Given the description of an element on the screen output the (x, y) to click on. 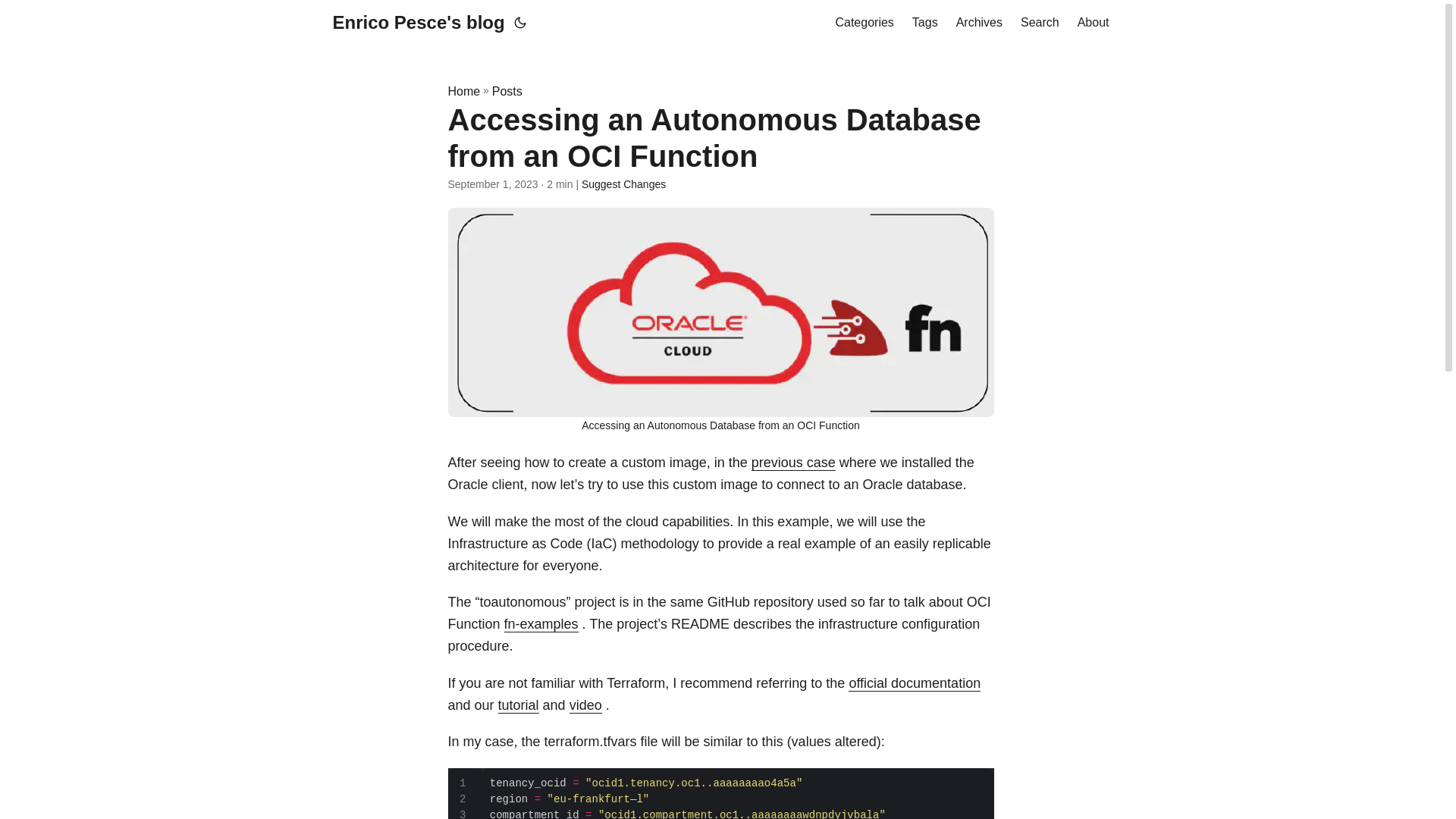
video (585, 704)
fn-examples (540, 623)
Archives (979, 22)
Categories (863, 22)
Enrico Pesce's blog (417, 22)
Suggest Changes (622, 184)
tutorial (517, 704)
previous case (793, 462)
Posts (507, 91)
Home (463, 91)
